Given the description of an element on the screen output the (x, y) to click on. 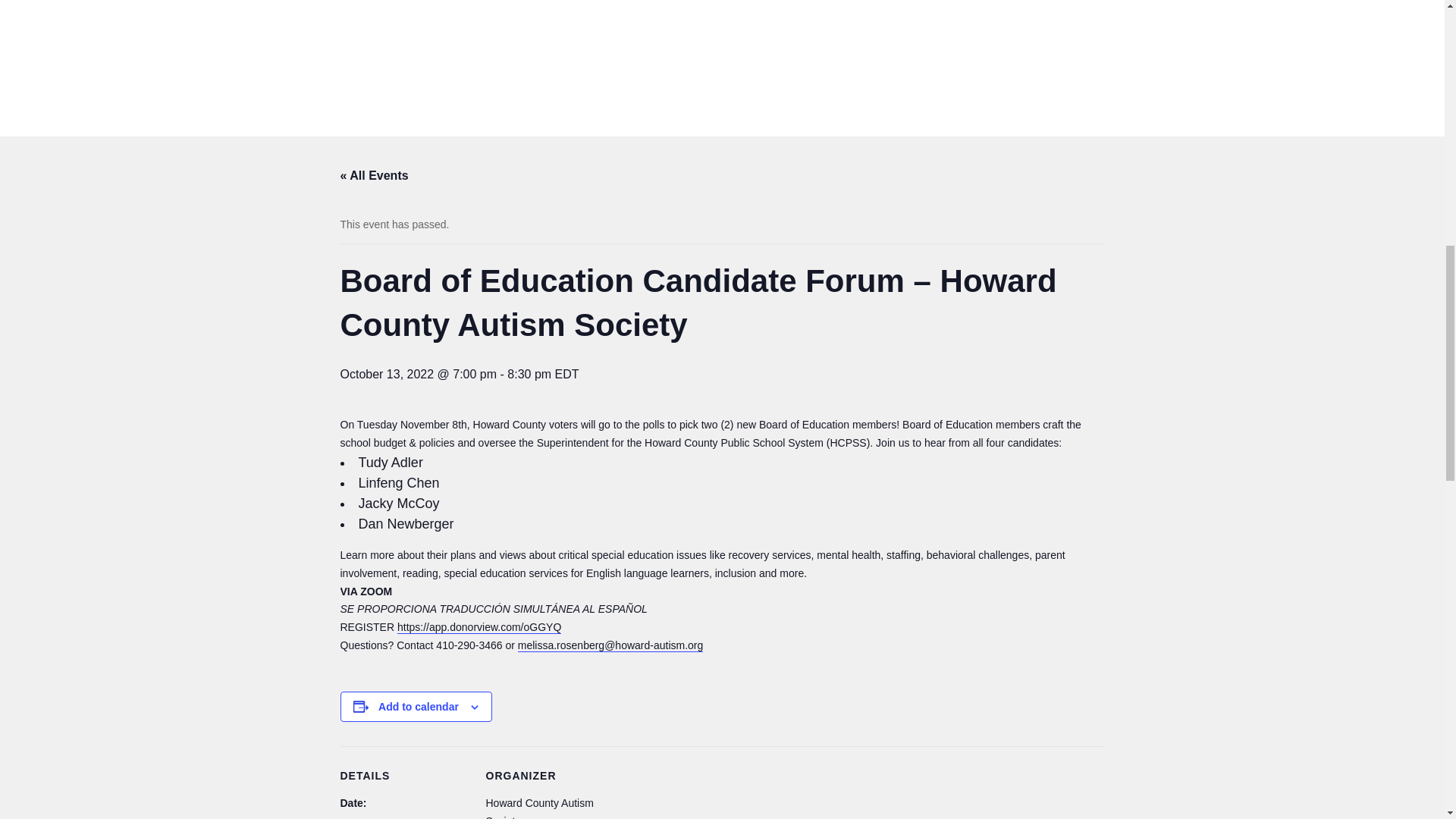
2022-10-13 (380, 818)
